Given the description of an element on the screen output the (x, y) to click on. 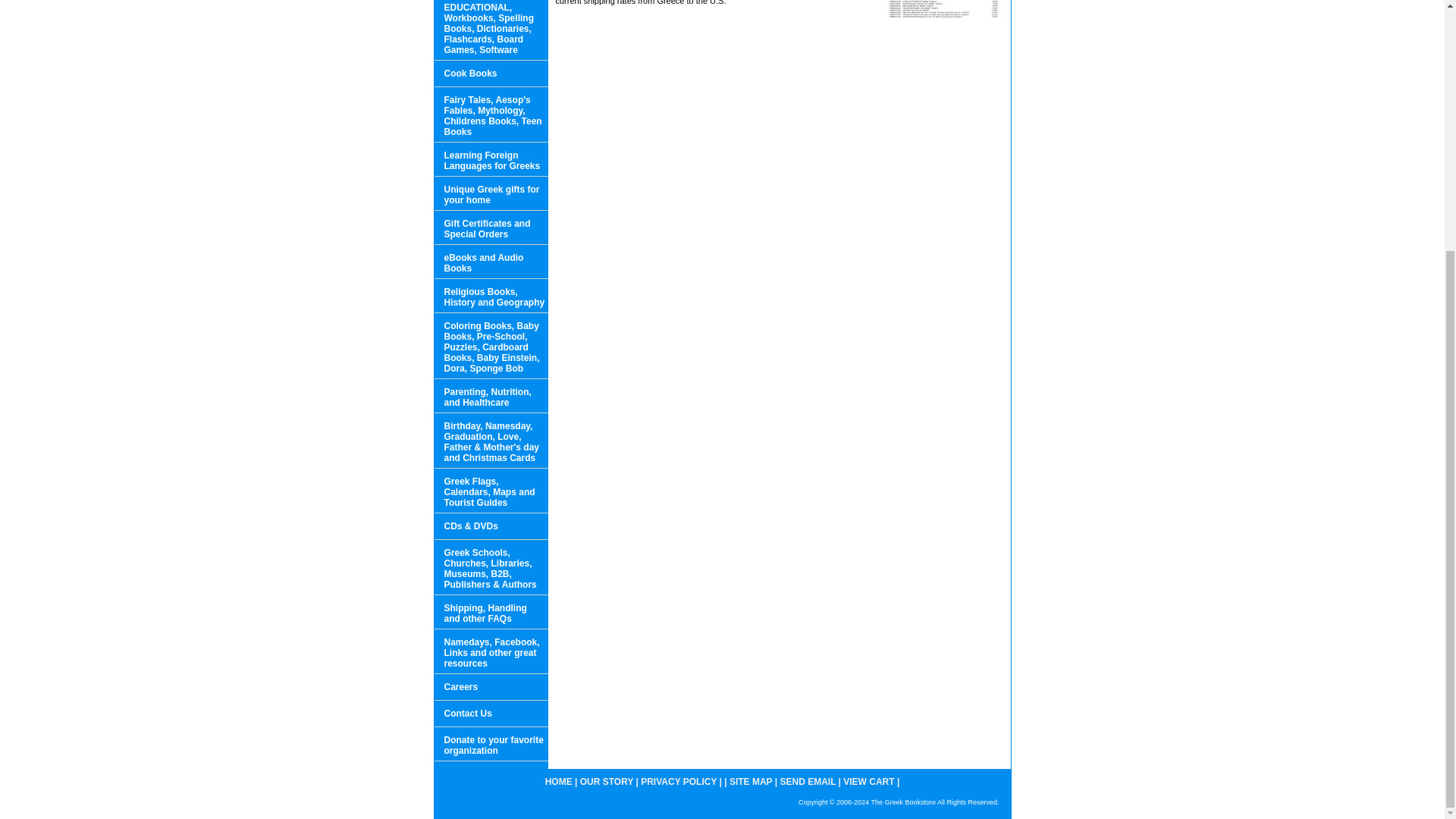
Contact Us (490, 714)
SEND EMAIL (806, 781)
Careers (490, 687)
Donate to your favorite organization (490, 744)
Gift Certificates and Special Orders (490, 227)
SITE MAP (750, 781)
Religious Books, History and Geography (490, 295)
PRIVACY POLICY (678, 781)
